Given the description of an element on the screen output the (x, y) to click on. 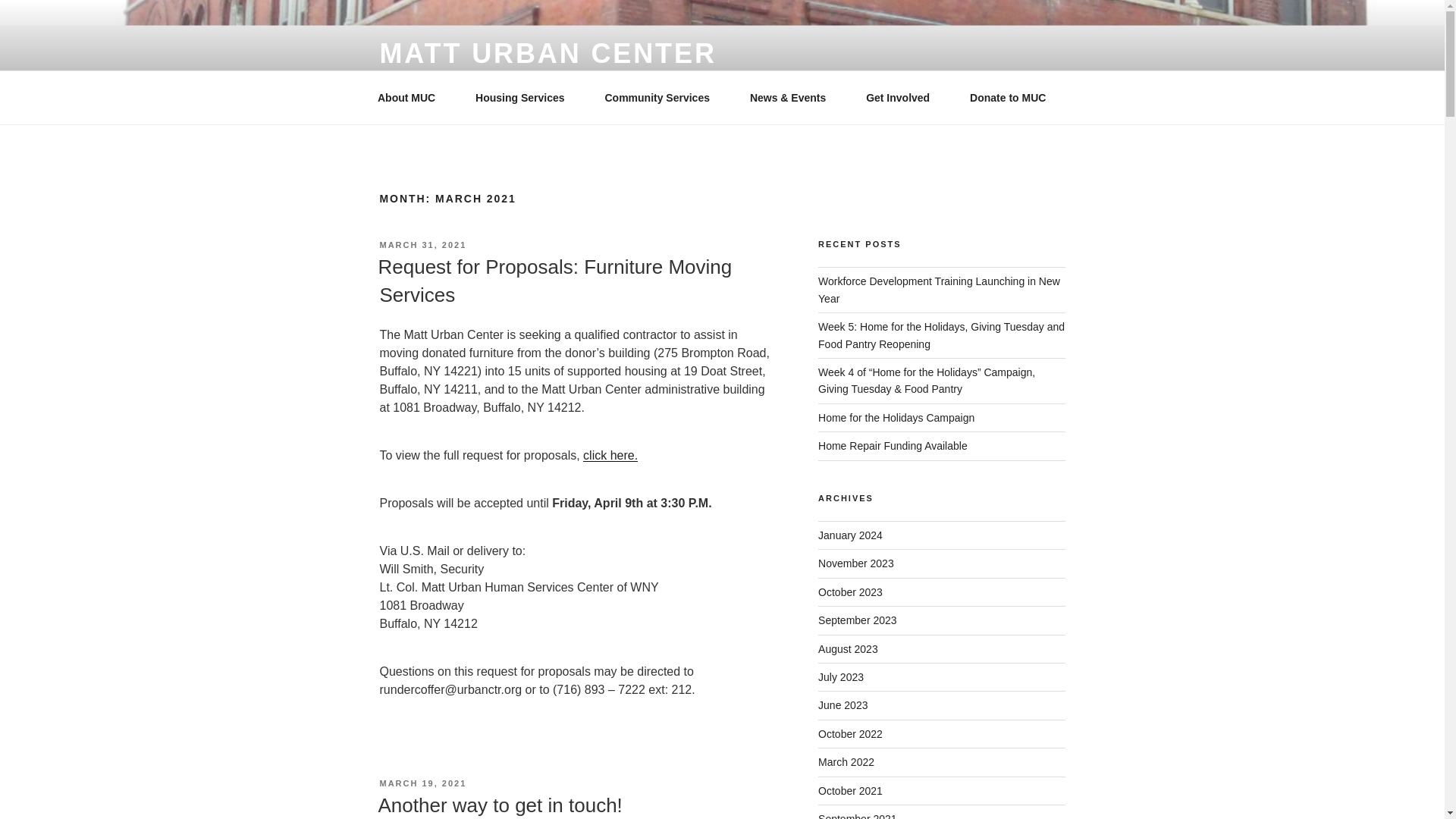
Get Involved (903, 97)
Donate to MUC (1013, 97)
MATT URBAN CENTER (547, 52)
About MUC (411, 97)
Community Services (662, 97)
Housing Services (526, 97)
